Given the description of an element on the screen output the (x, y) to click on. 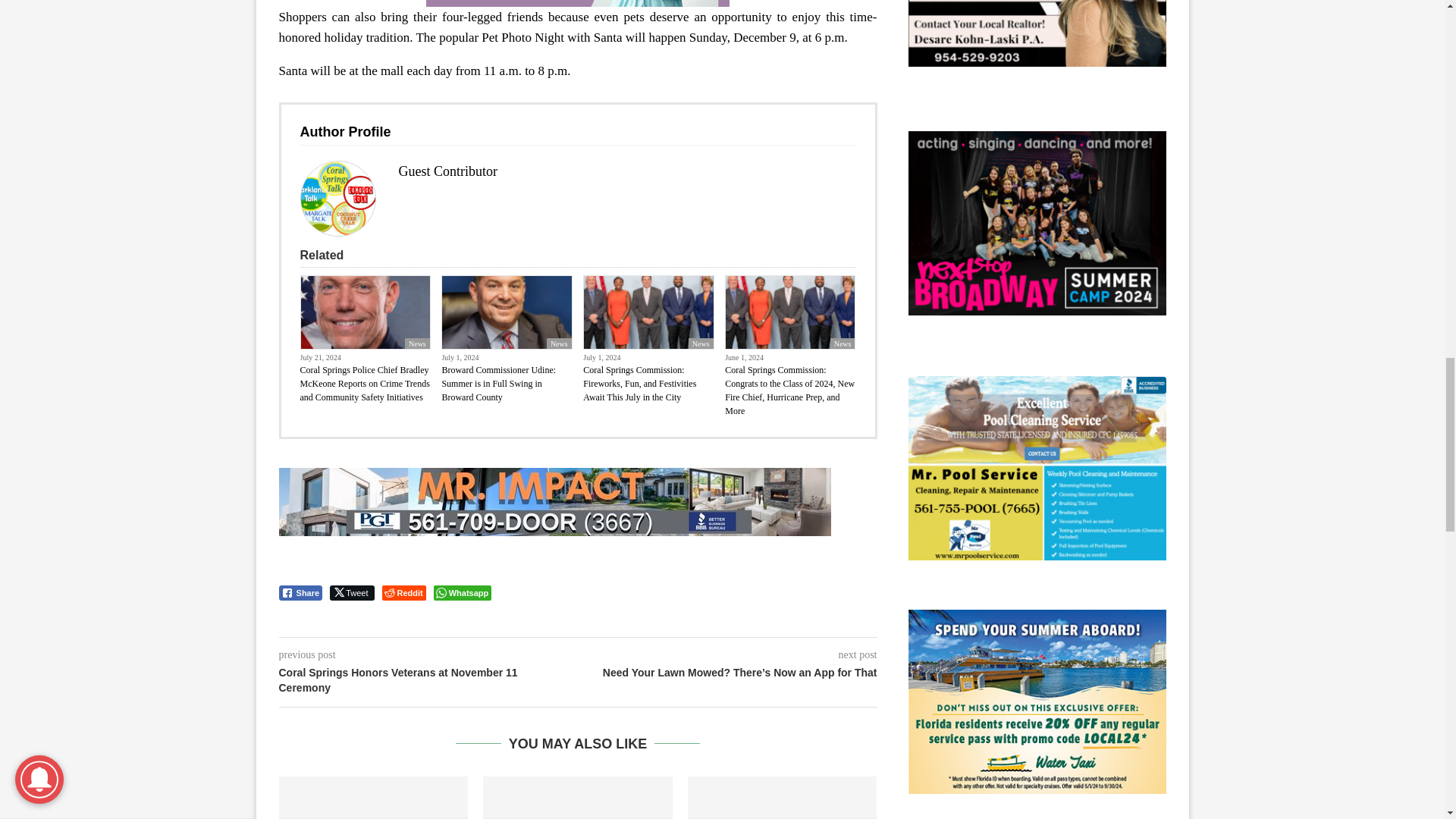
Santa Claus is Back at Coral Square Mall 7 (337, 198)
